Given the description of an element on the screen output the (x, y) to click on. 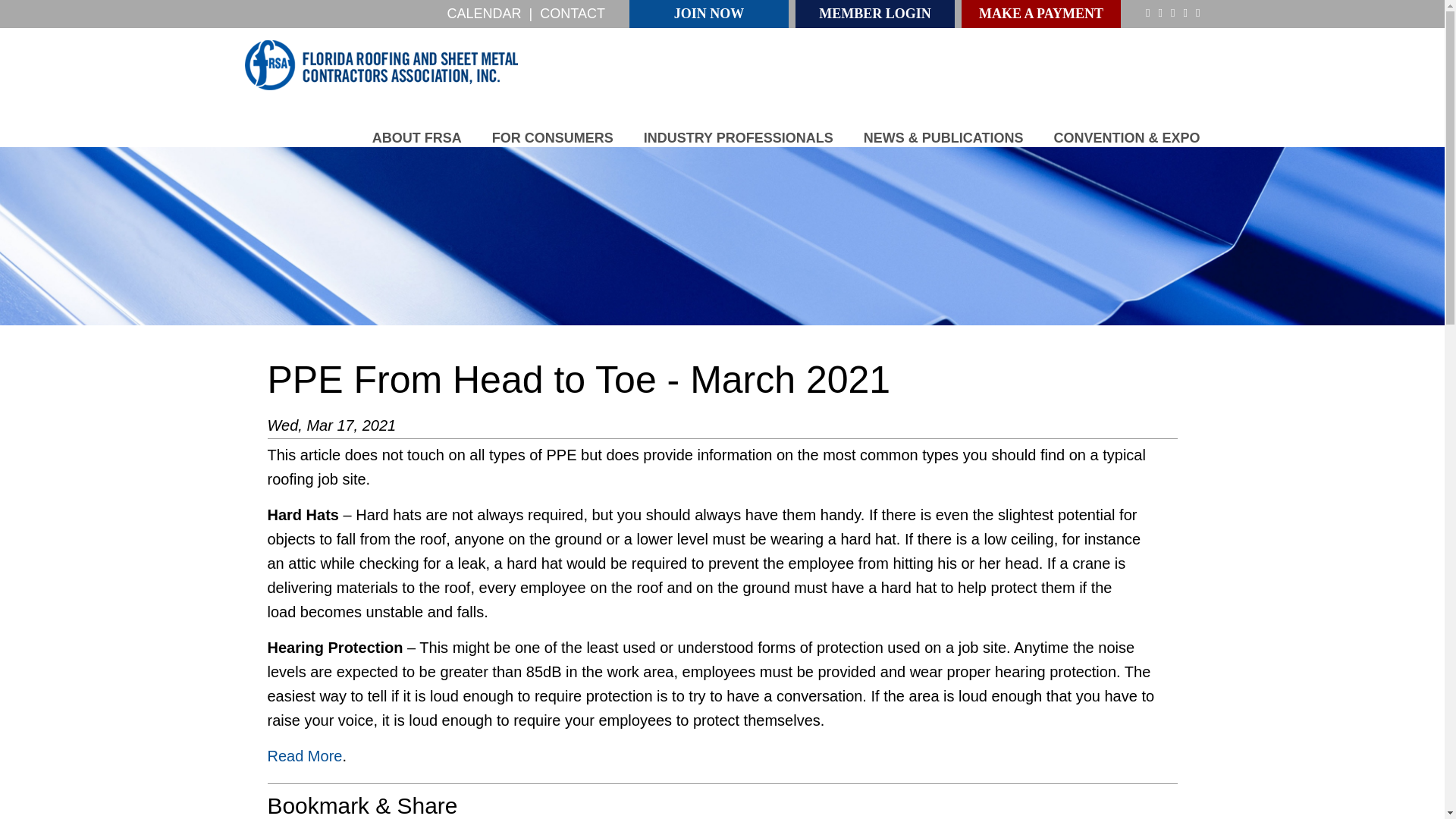
INDUSTRY PROFESSIONALS (737, 138)
JOIN NOW (708, 13)
CALENDAR (483, 13)
MAKE A PAYMENT (1040, 13)
CONTACT (572, 13)
ABOUT FRSA (416, 138)
MEMBER LOGIN (874, 13)
Read More (304, 755)
FOR CONSUMERS (552, 138)
